Given the description of an element on the screen output the (x, y) to click on. 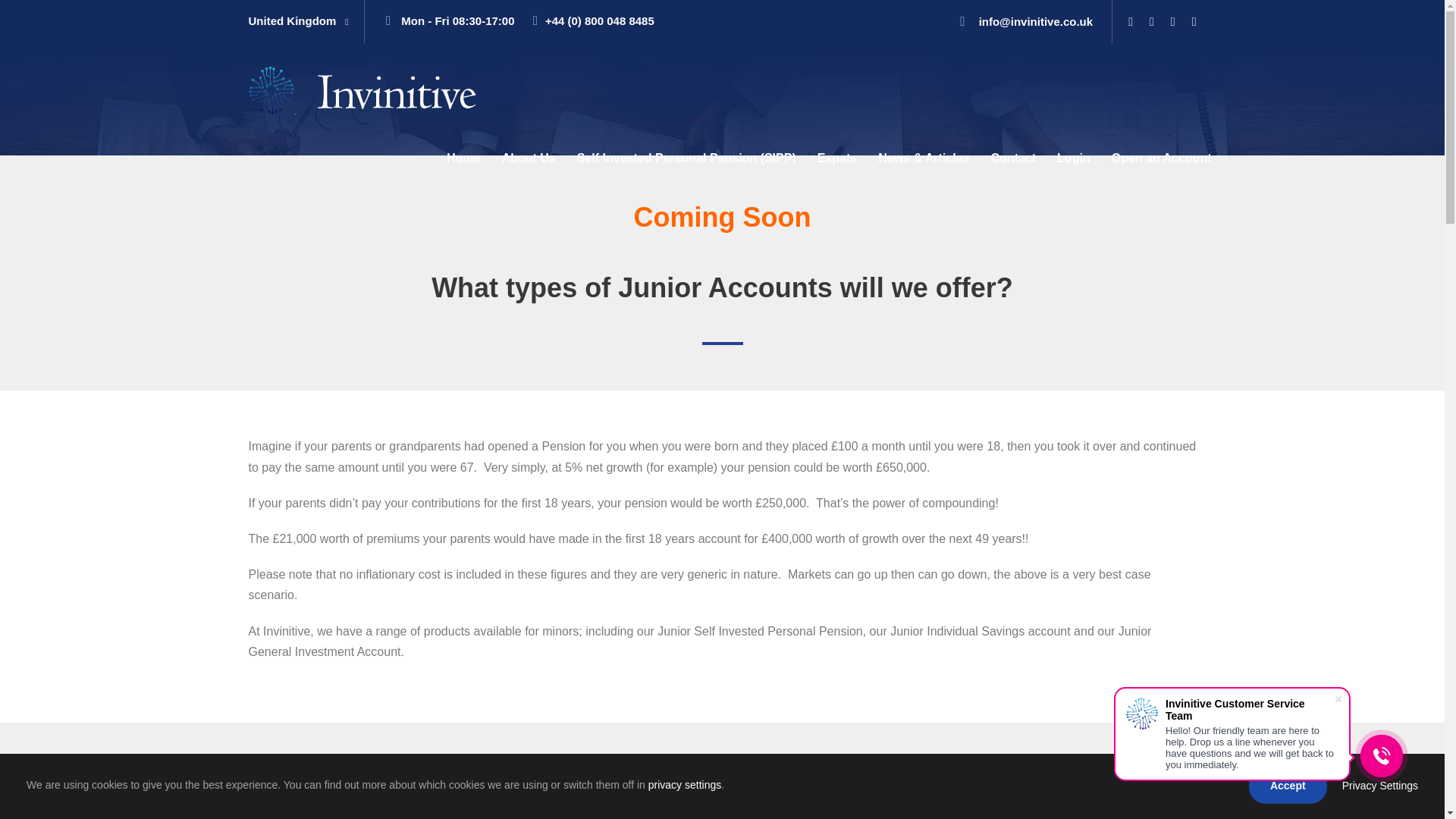
linkedin (1152, 21)
About Us (529, 165)
kids playing 3 (721, 793)
instagram (1194, 21)
generations (1047, 793)
Contact (1013, 165)
Expats (836, 165)
twitter (1172, 21)
kids playing 2 (395, 793)
Login (1073, 165)
Home (463, 165)
facebook (1130, 21)
nv blue and white small (362, 90)
Open an Account (1161, 165)
